Given the description of an element on the screen output the (x, y) to click on. 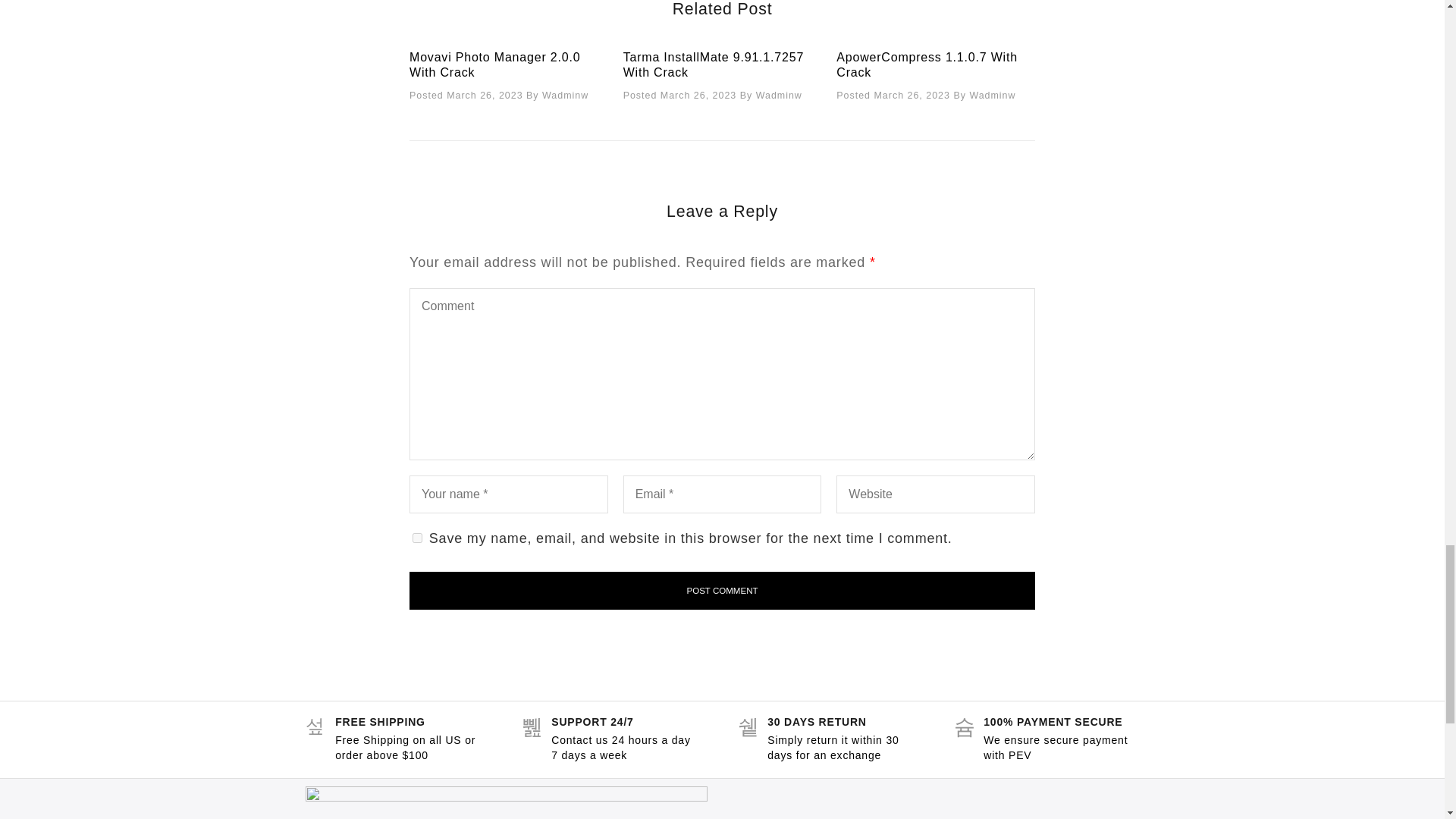
Post Comment (722, 590)
wadminw (564, 97)
Movavi Photo Manager 2.0.0 With Crack (494, 64)
yes (417, 537)
wadminw (778, 97)
Wadminw (564, 97)
wadminw (991, 97)
Tarma InstallMate 9.91.1.7257 With Crack (713, 64)
